Given the description of an element on the screen output the (x, y) to click on. 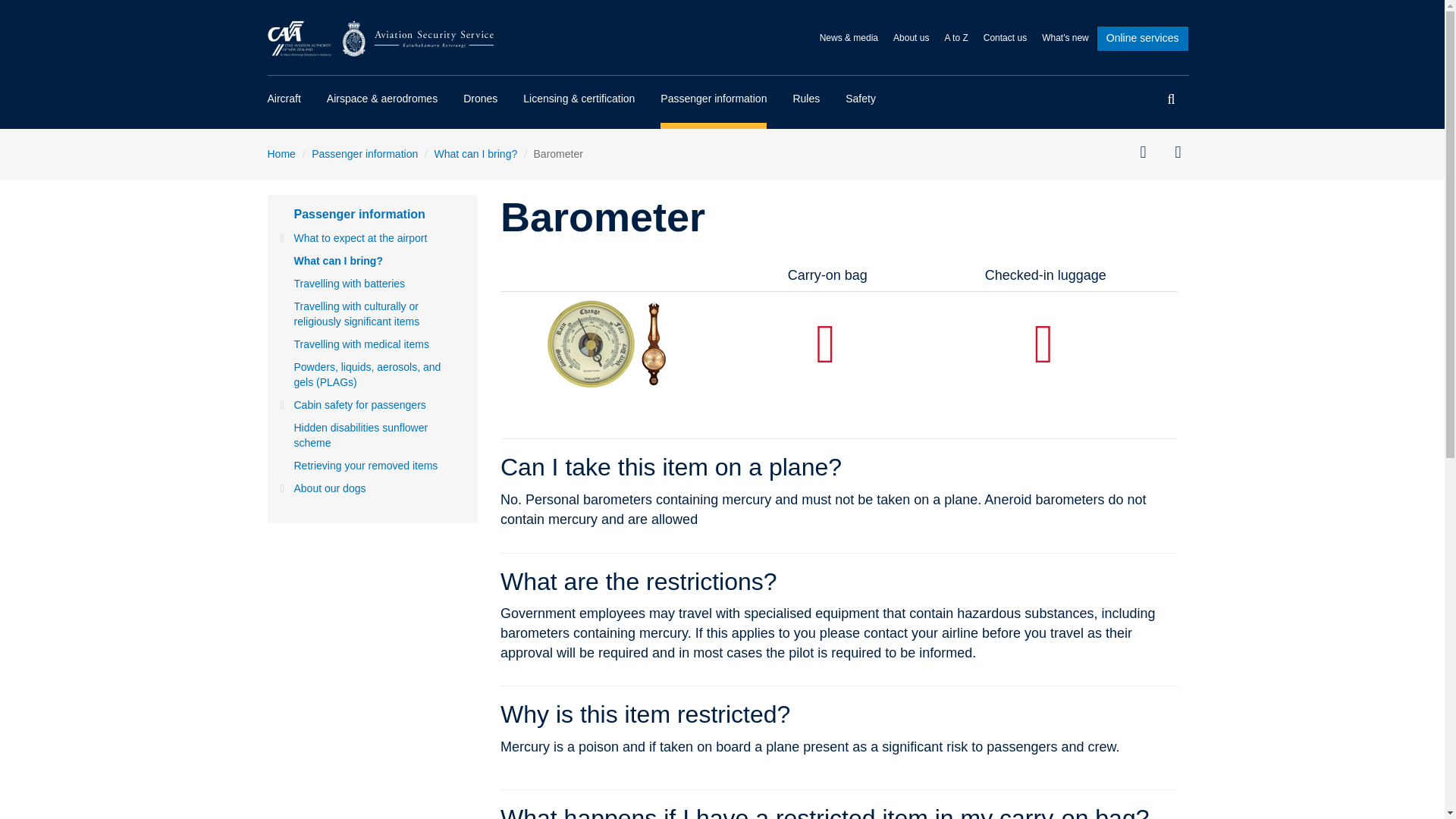
Print (1148, 153)
Go to Home Page (380, 37)
Online services (1142, 38)
